Given the description of an element on the screen output the (x, y) to click on. 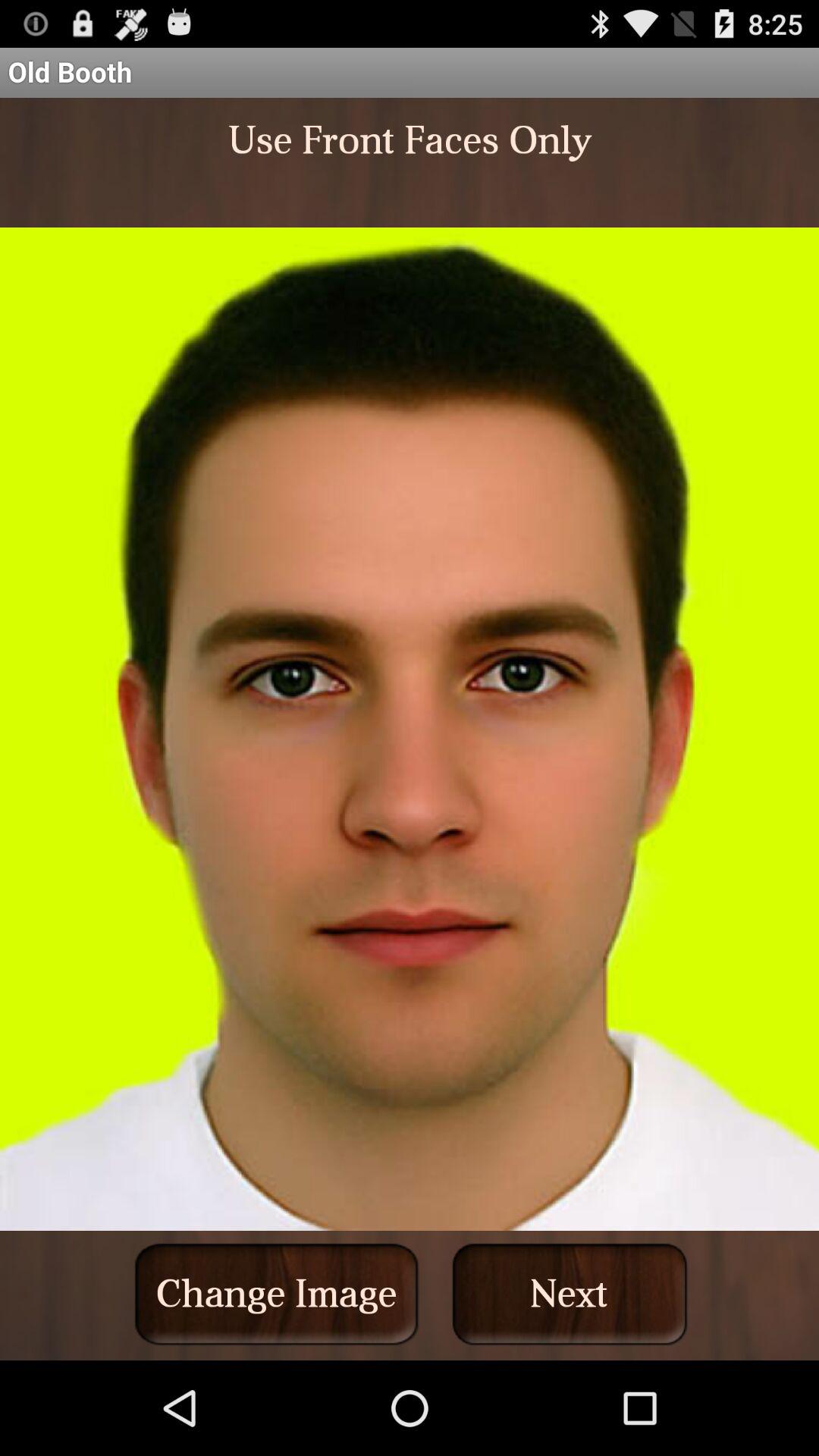
turn off the app below use front faces (276, 1293)
